Given the description of an element on the screen output the (x, y) to click on. 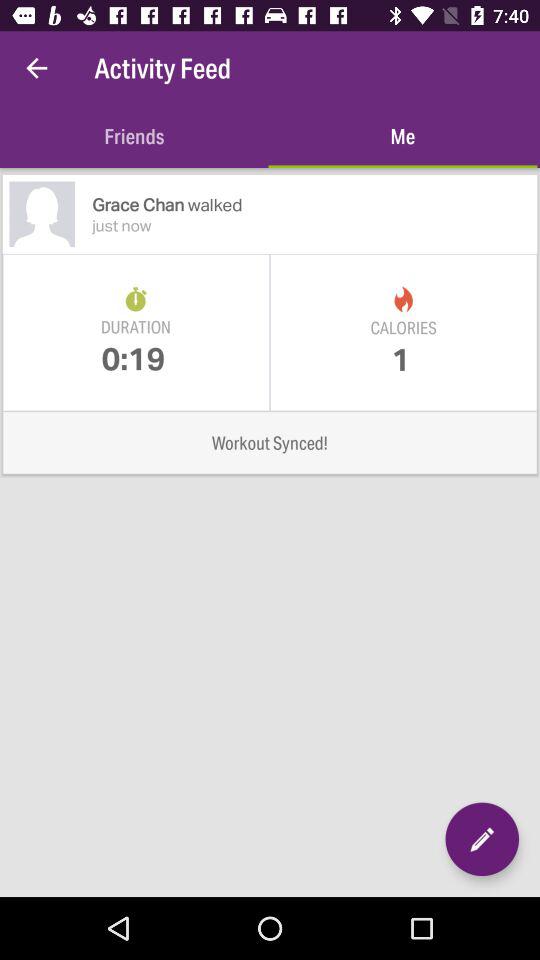
turn on icon at the bottom right corner (482, 839)
